Given the description of an element on the screen output the (x, y) to click on. 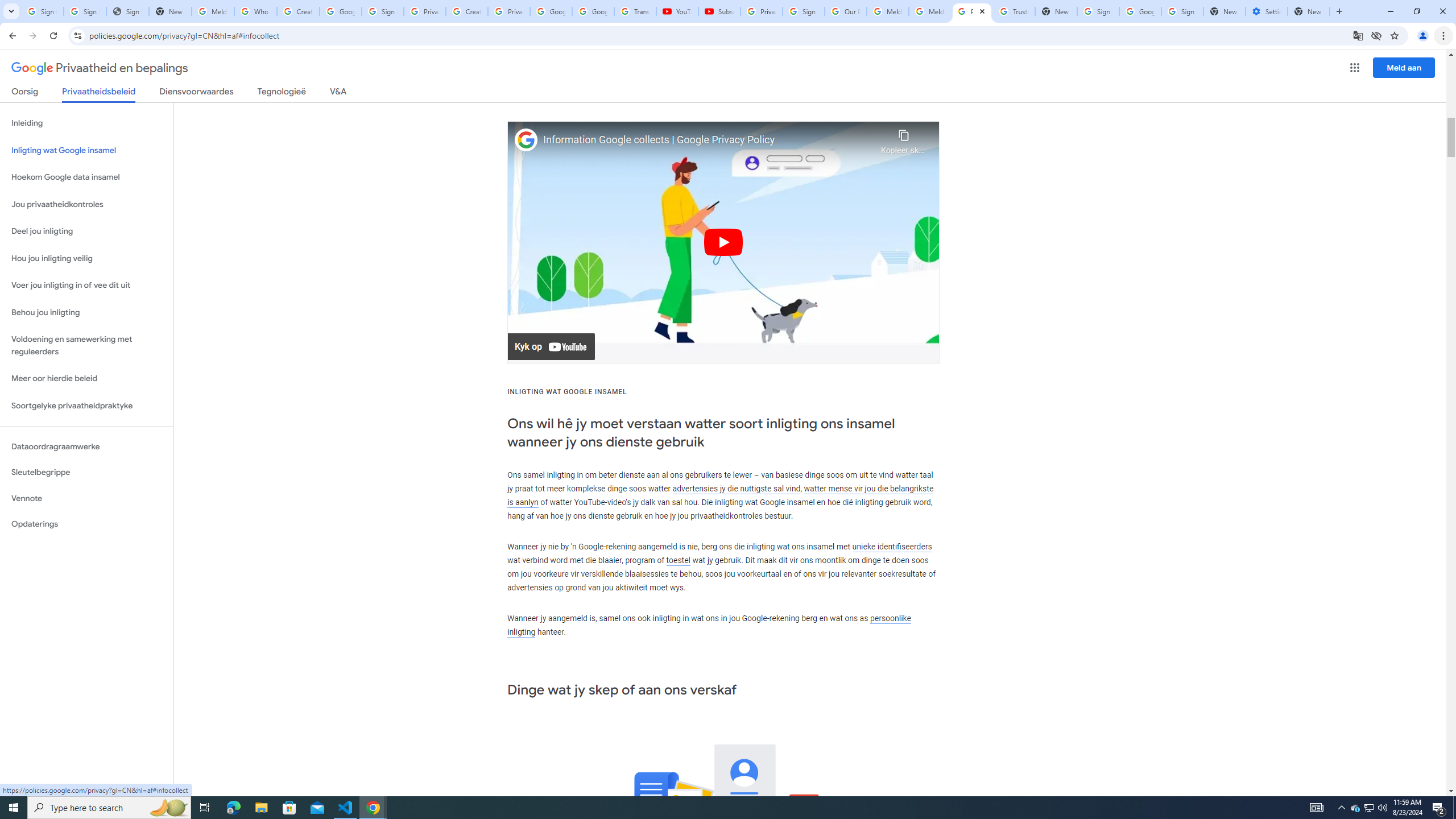
Privaatheidsbeleid (98, 94)
Inleiding (86, 122)
New Tab (1224, 11)
Sign in - Google Accounts (1182, 11)
persoonlike inligting (708, 625)
Jou privaatheidkontroles (86, 204)
Deel jou inligting (86, 230)
Settings - Addresses and more (1266, 11)
Meer oor hierdie beleid (86, 379)
